Given the description of an element on the screen output the (x, y) to click on. 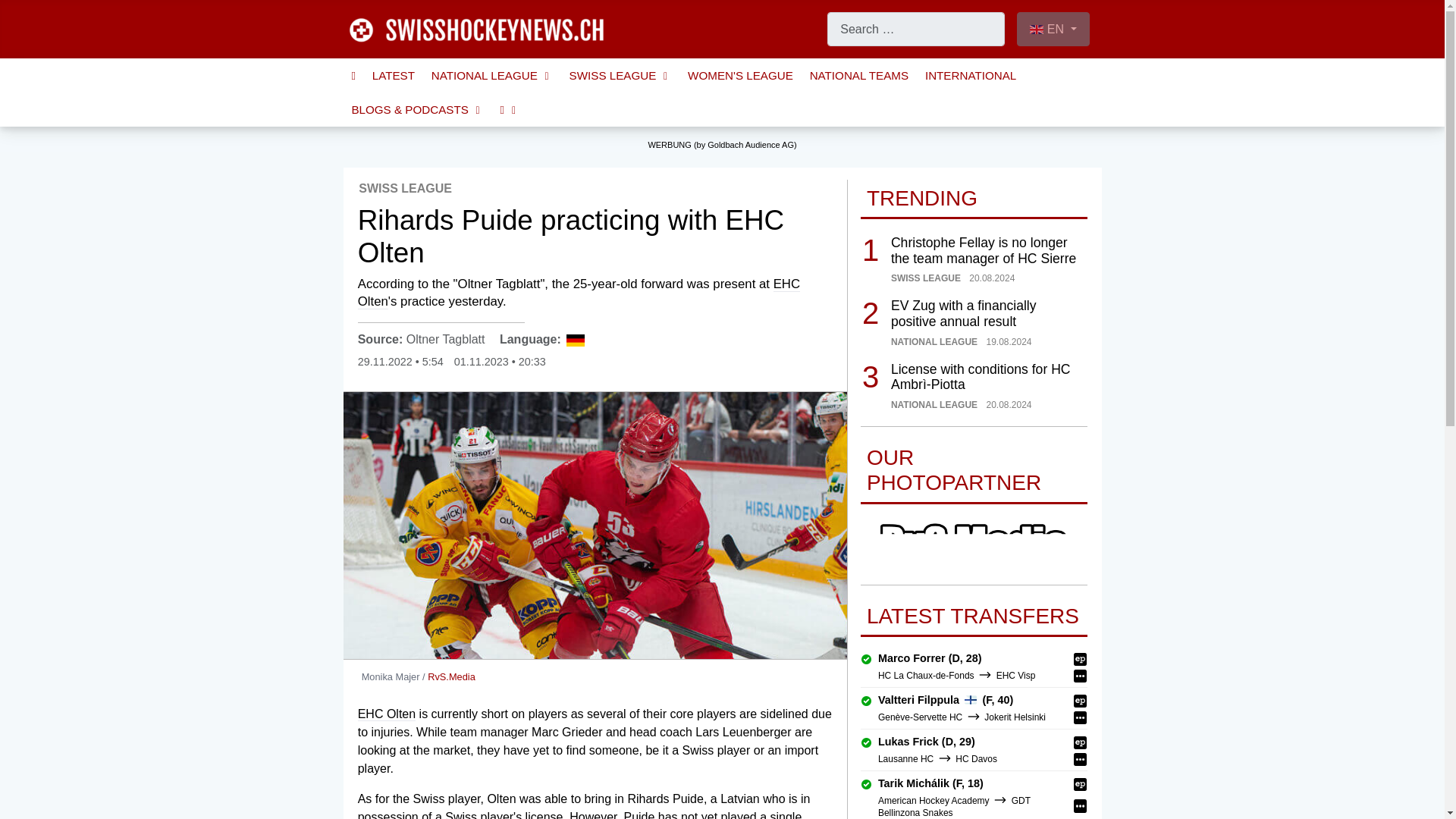
LATEST (393, 75)
EN (1052, 28)
EHCO: News, Kader, und Transfers (578, 292)
EHCO: News, Kader, und Transfers (386, 714)
NATIONAL LEAGUE (491, 75)
visit RvS.Media's website (452, 676)
